Given the description of an element on the screen output the (x, y) to click on. 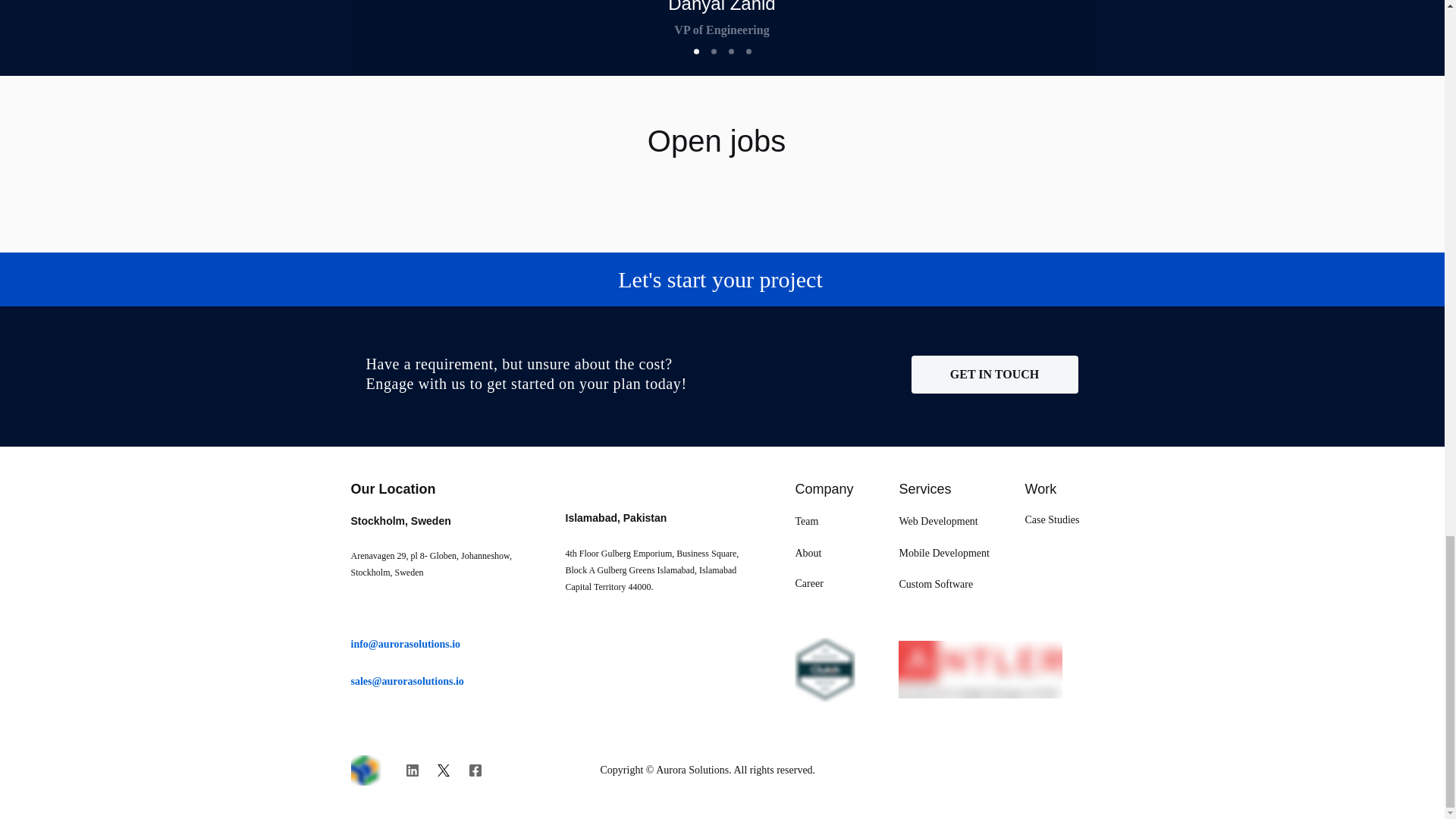
Career (808, 583)
GET IN TOUCH (994, 374)
Custom Software (936, 583)
Web Development (938, 520)
Mobile Development (944, 552)
Team (806, 521)
About (807, 552)
